Given the description of an element on the screen output the (x, y) to click on. 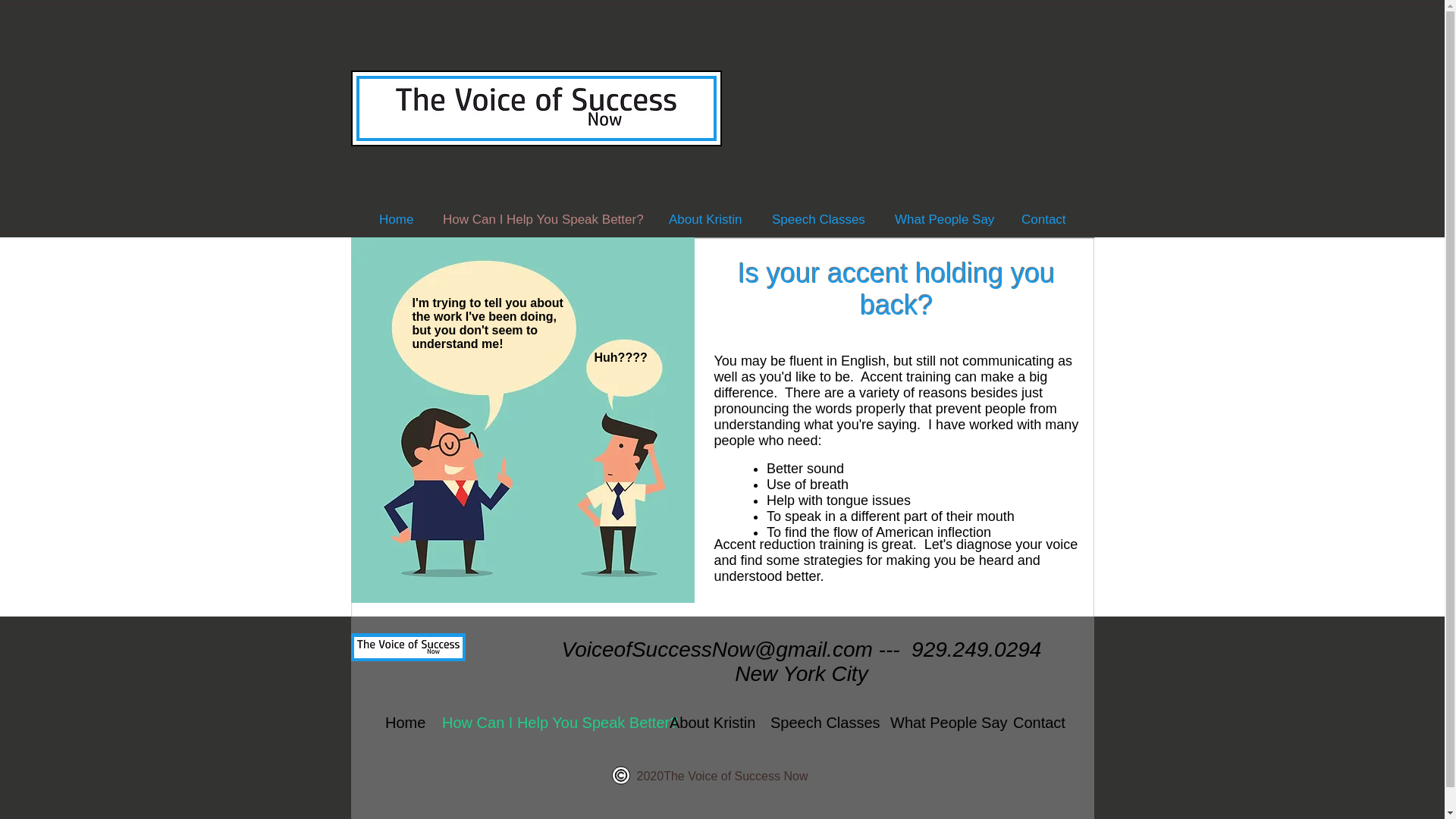
Speech Classes (818, 722)
929.249.0294 (976, 649)
How Can I Help You Speak Better? (544, 722)
Home (402, 722)
What People Say (940, 722)
Home (396, 219)
About Kristin (705, 219)
Speech Classes (818, 219)
About Kristin (708, 722)
Contact (1043, 219)
